Given the description of an element on the screen output the (x, y) to click on. 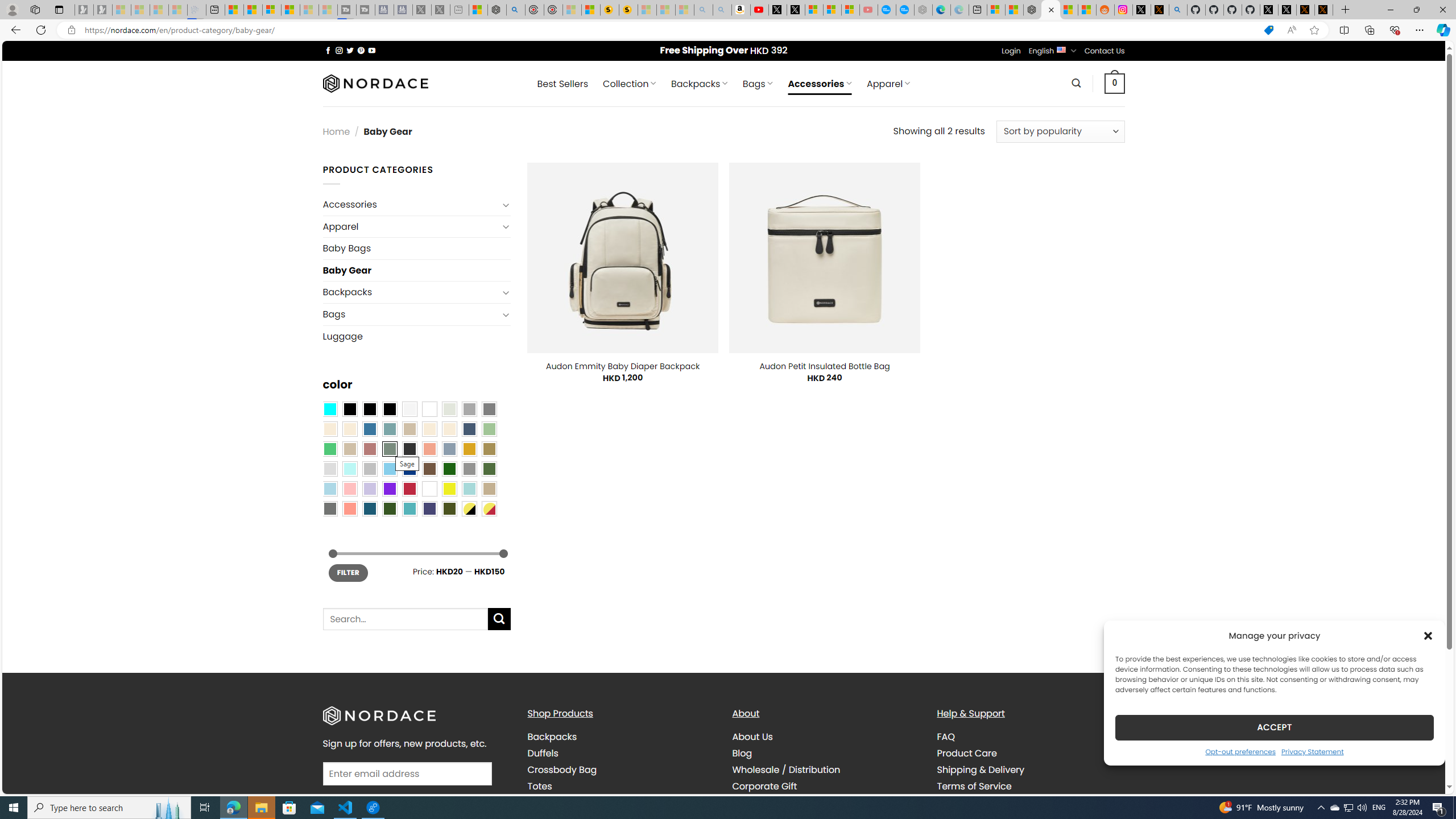
Beige (329, 428)
Opinion: Op-Ed and Commentary - USA TODAY (887, 9)
Baby Bags (416, 248)
Ash Gray (449, 408)
English (1061, 49)
Overview (271, 9)
